Given the description of an element on the screen output the (x, y) to click on. 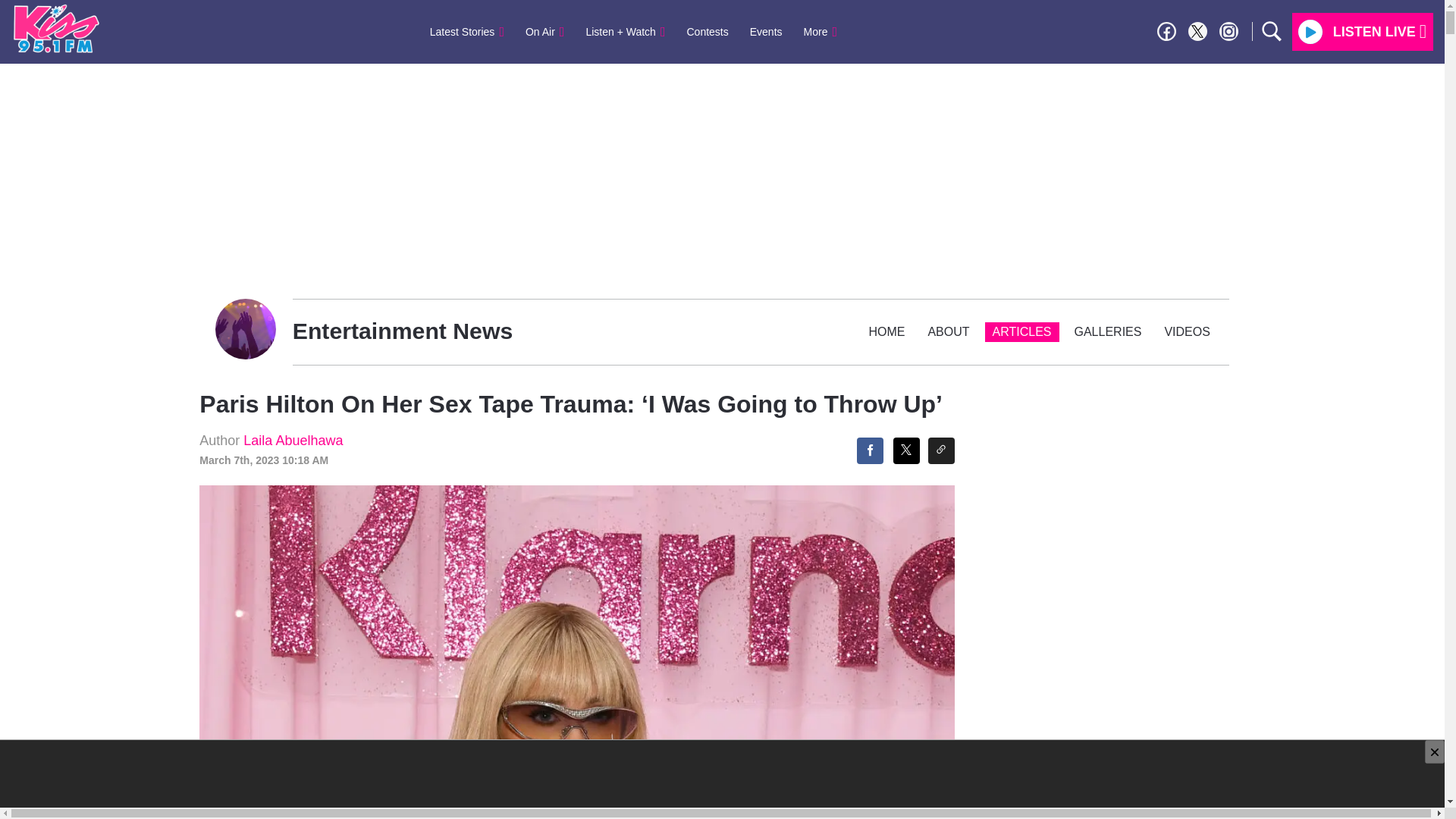
More (820, 31)
On Air (545, 31)
Contests (708, 31)
Events (766, 31)
Latest Stories (467, 31)
Laila Abuelhawa (292, 440)
